Given the description of an element on the screen output the (x, y) to click on. 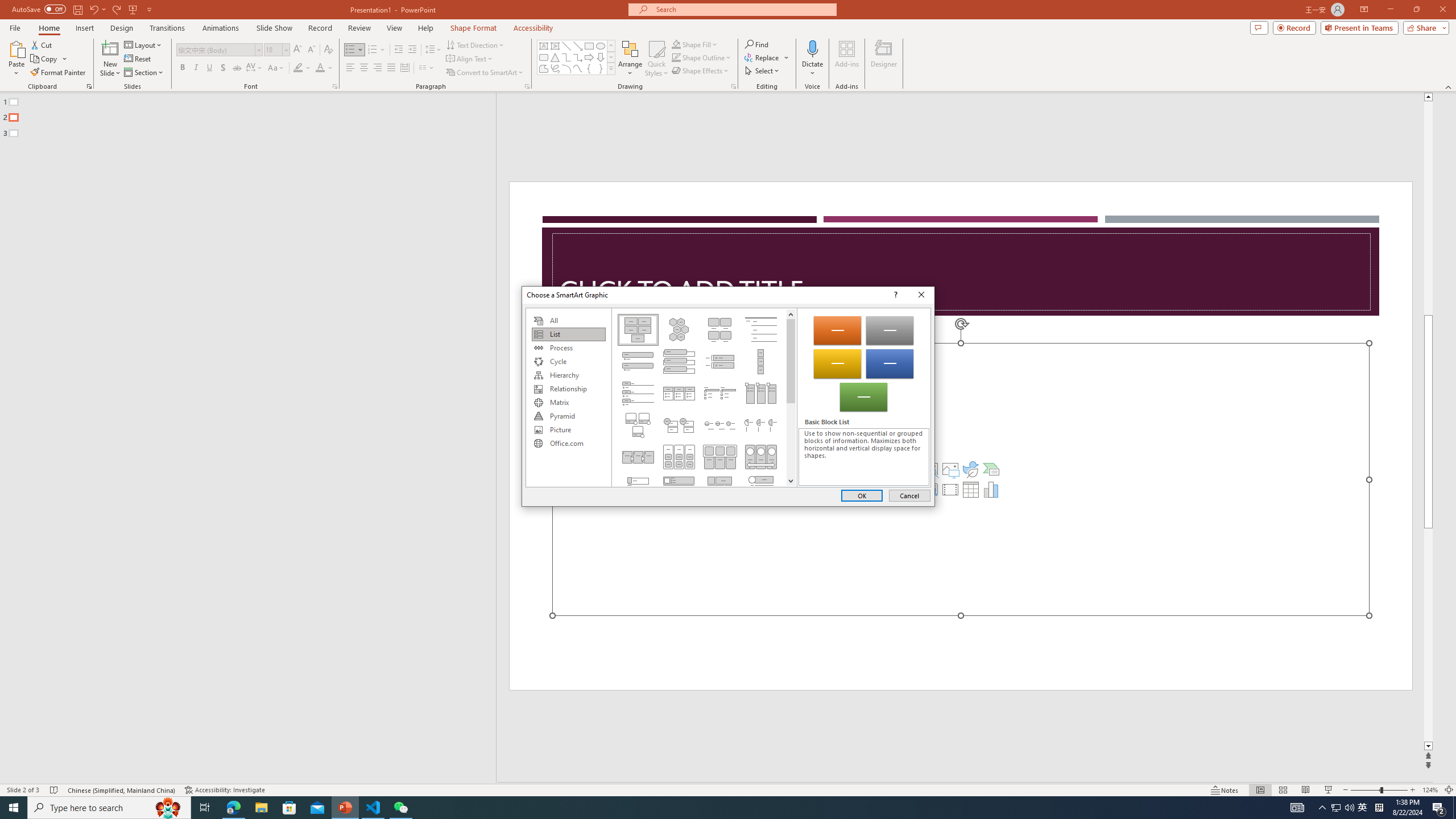
Quick Styles (656, 58)
Font Size (273, 49)
Zoom to Fit  (1449, 790)
Bending Picture Accent List (637, 425)
Shape Outline (701, 56)
Show desktop (1454, 807)
Close (921, 294)
Cut (42, 44)
Underline (209, 67)
Align Right (377, 67)
Designer (883, 58)
Task View (204, 807)
Alternating Hexagons (678, 329)
